Given the description of an element on the screen output the (x, y) to click on. 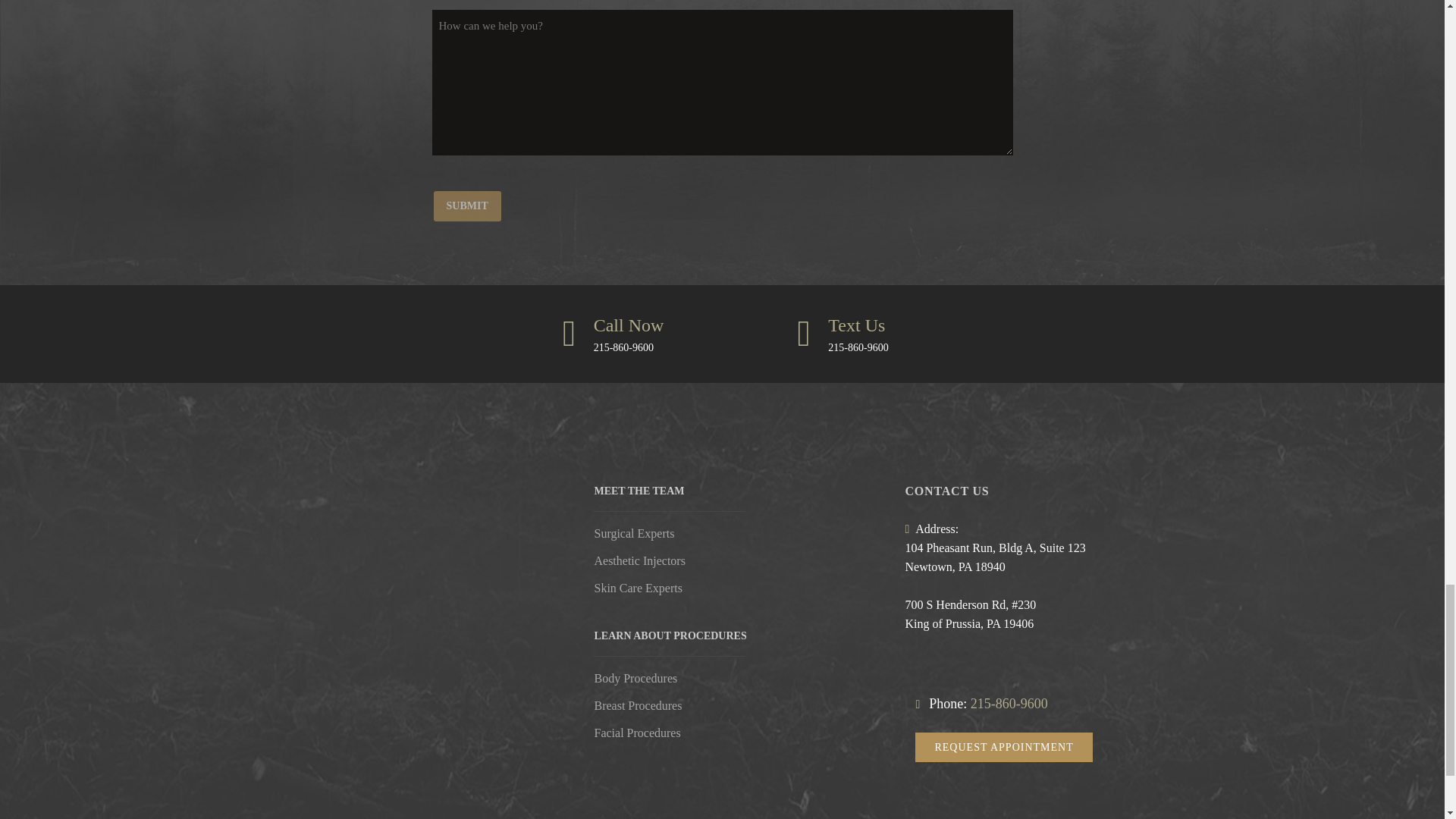
Submit (466, 205)
